Given the description of an element on the screen output the (x, y) to click on. 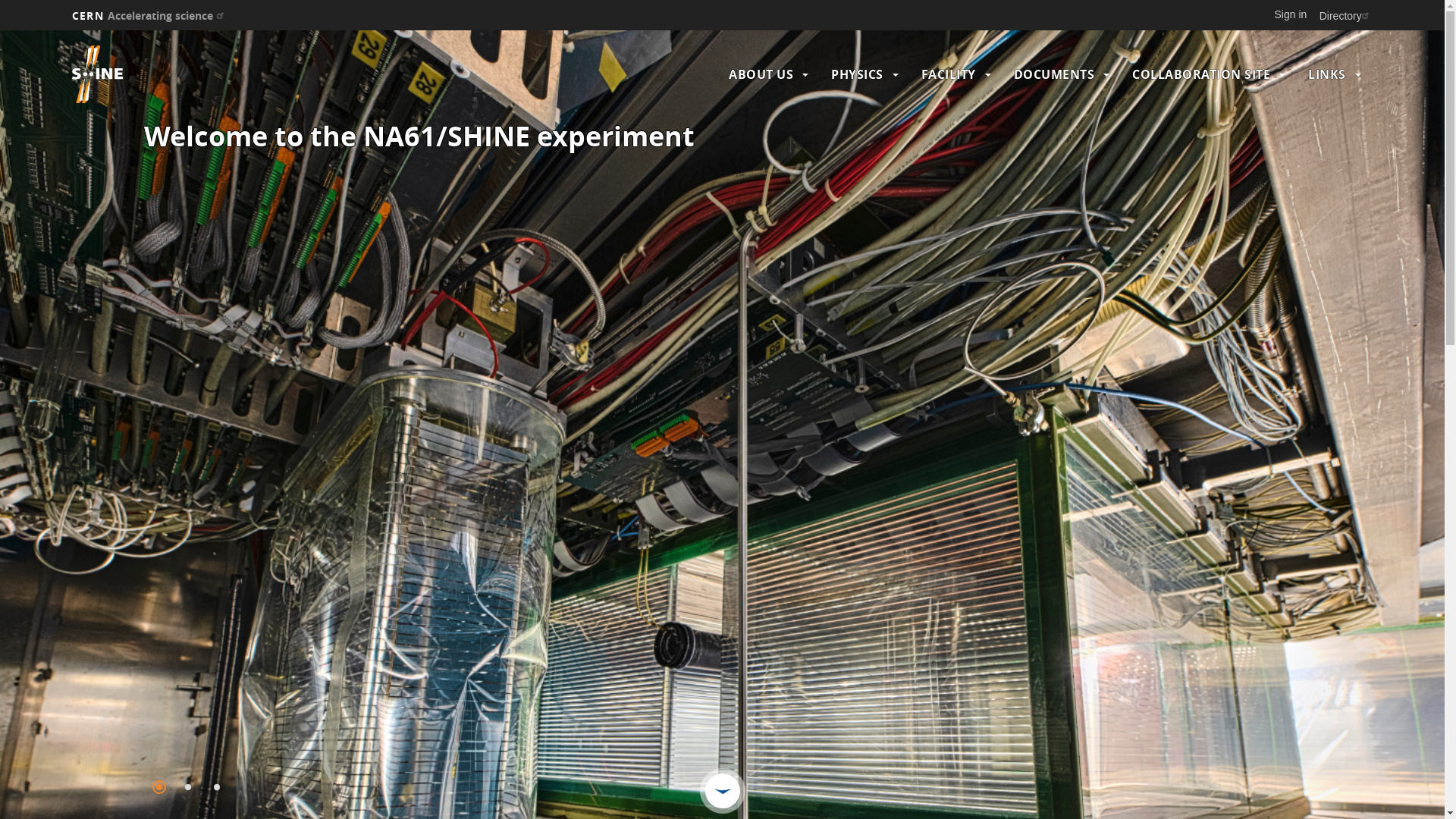
DOCUMENTS Element type: text (1054, 74)
LINKS Element type: text (1327, 74)
Directory(link is external) Element type: text (1345, 14)
ABOUT US Element type: text (760, 74)
CERN Accelerating science (link is external) Element type: text (149, 14)
Home Element type: hover (230, 74)
FACILITY Element type: text (948, 74)
COLLABORATION SITE Element type: text (1201, 74)
PHYSICS Element type: text (857, 74)
Sign in Element type: text (1290, 14)
Skip to main content Element type: text (0, 30)
